Given the description of an element on the screen output the (x, y) to click on. 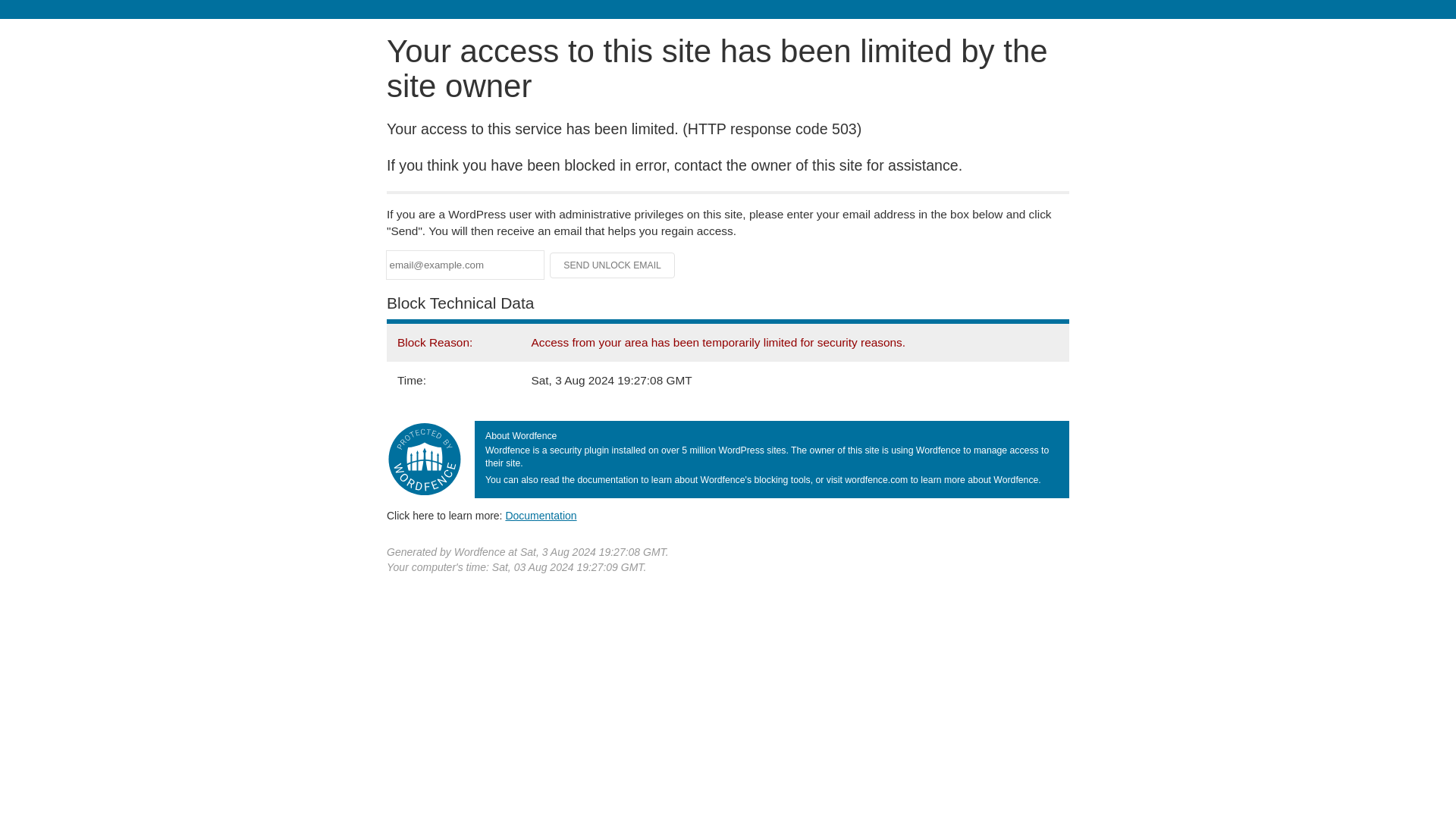
Documentation (540, 515)
Send Unlock Email (612, 265)
Send Unlock Email (612, 265)
